Given the description of an element on the screen output the (x, y) to click on. 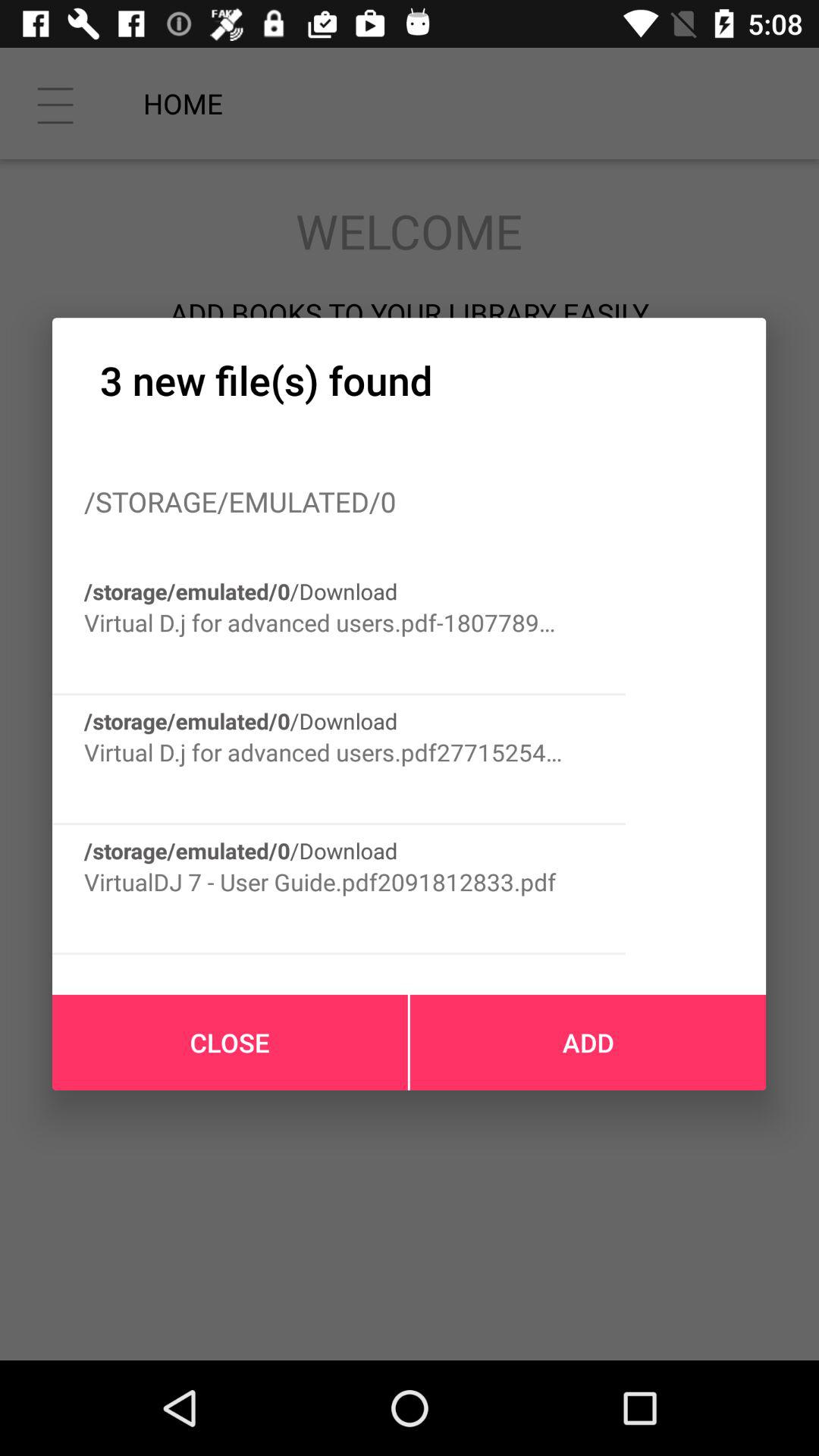
tap add icon (588, 1042)
